Given the description of an element on the screen output the (x, y) to click on. 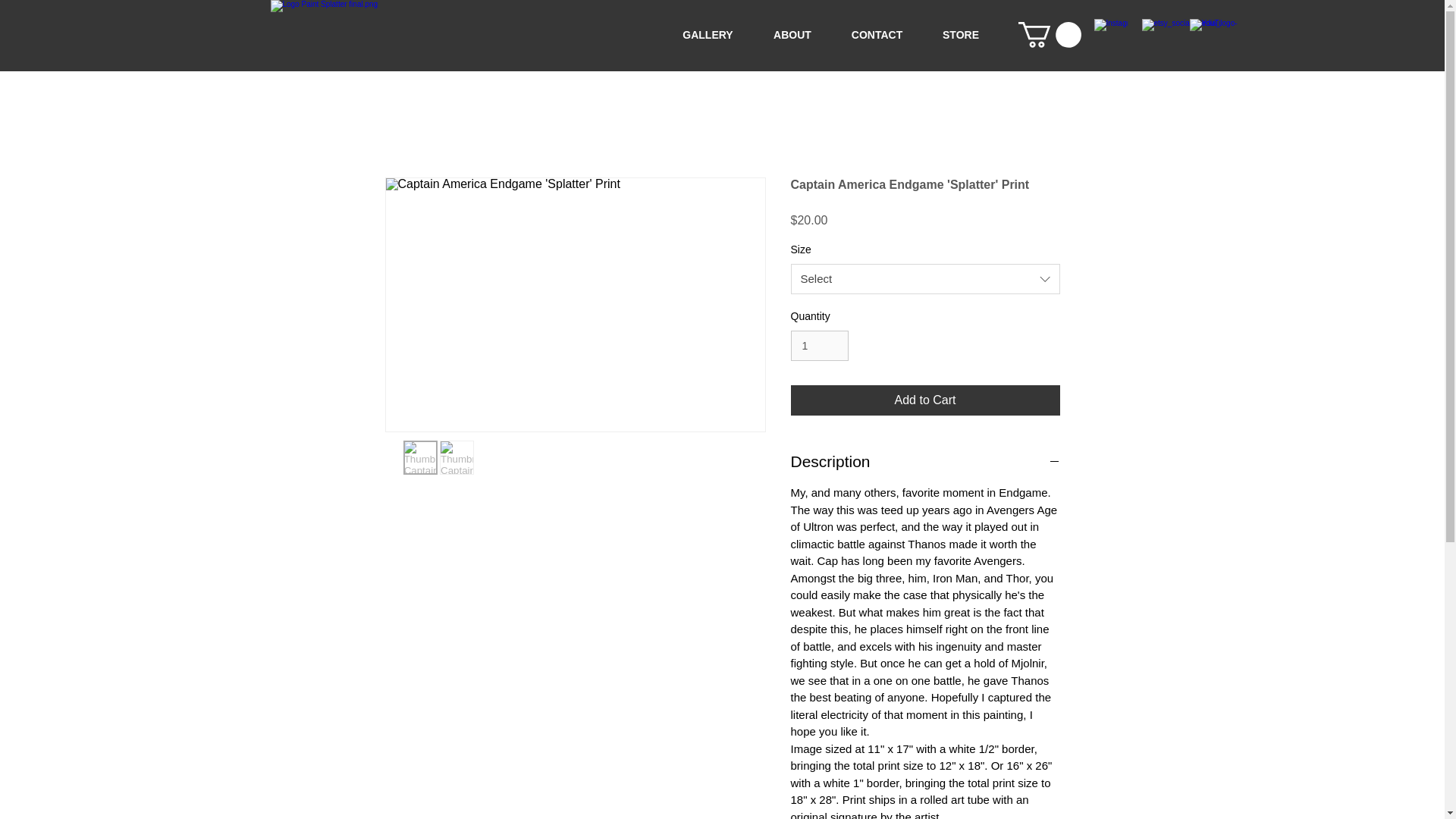
CONTACT (876, 34)
GALLERY (708, 34)
STORE (959, 34)
Select (924, 278)
Description (924, 461)
Add to Cart (924, 399)
ABOUT (792, 34)
1 (818, 345)
